Given the description of an element on the screen output the (x, y) to click on. 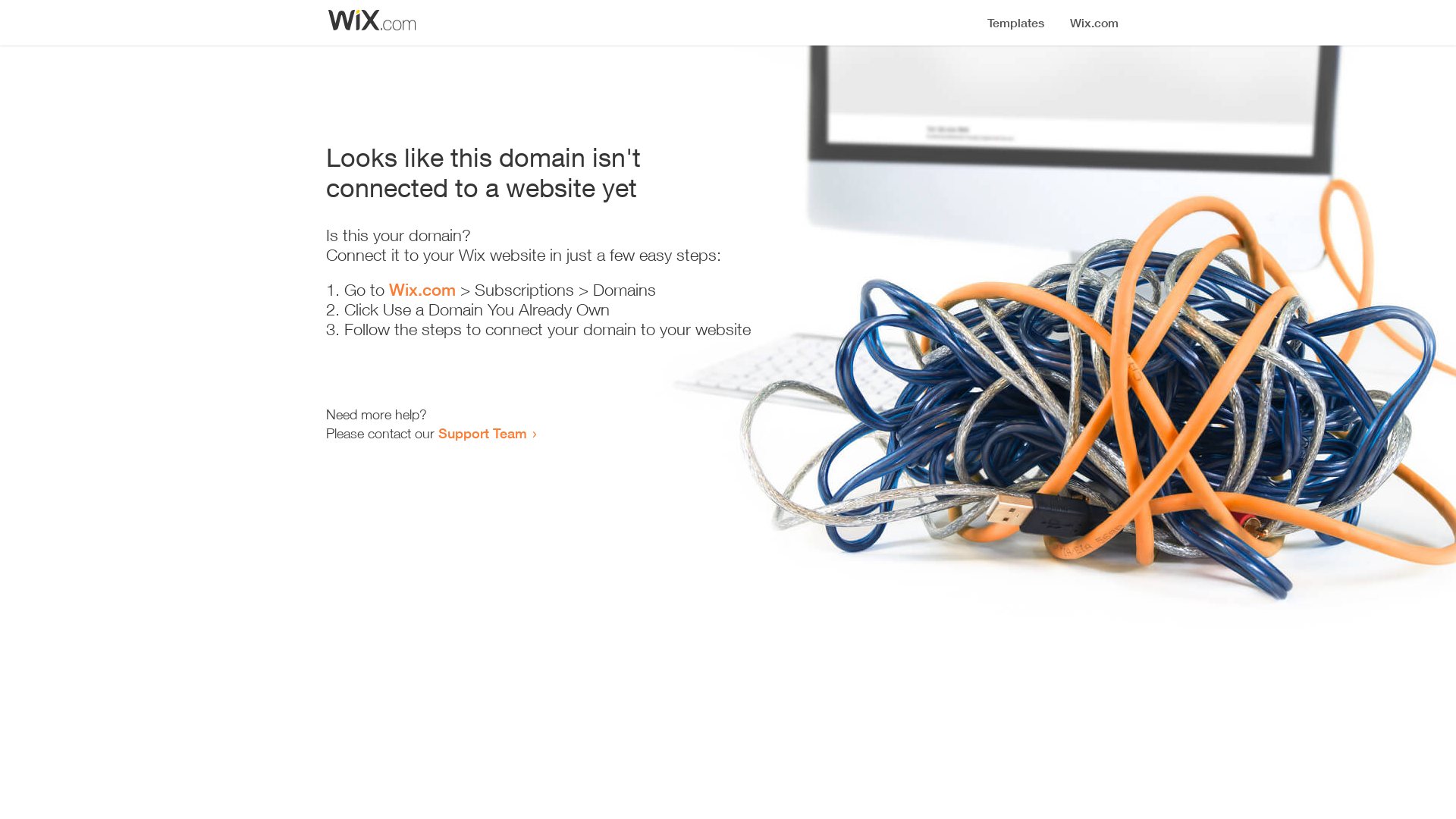
Wix.com Element type: text (422, 289)
Support Team Element type: text (482, 432)
